Given the description of an element on the screen output the (x, y) to click on. 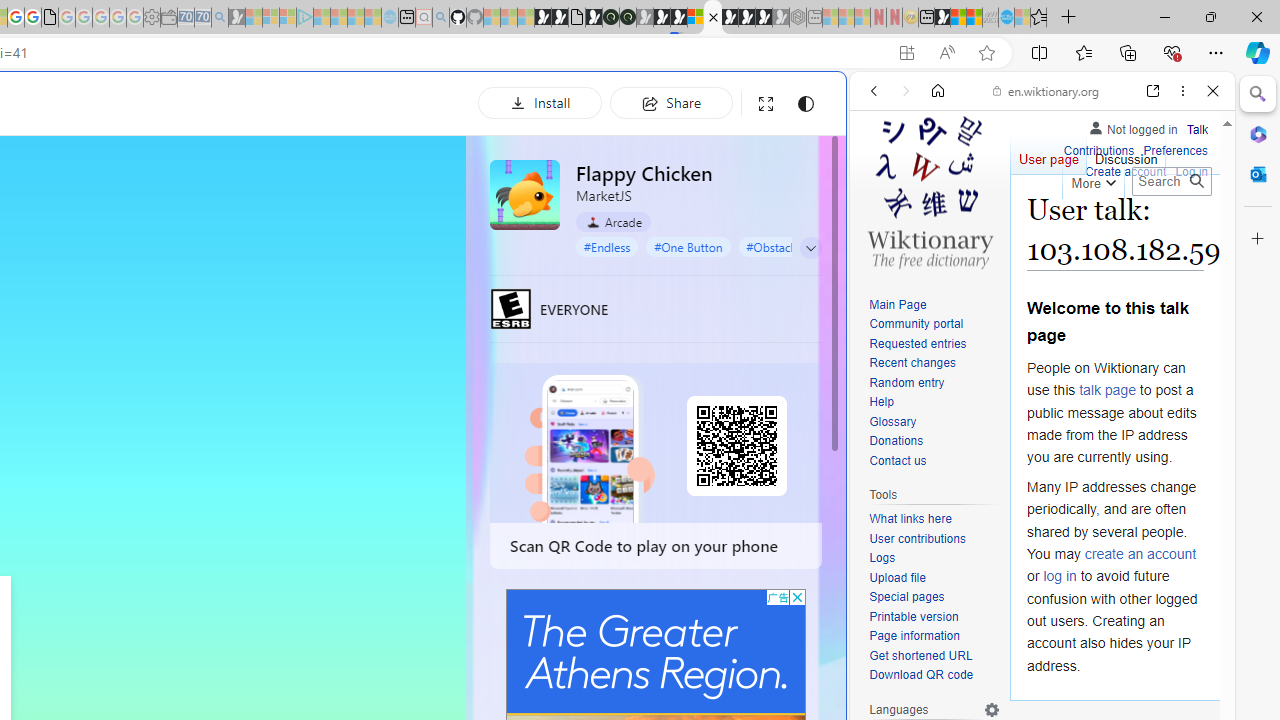
create an account (1140, 553)
Search the web (1051, 137)
Full screen (765, 103)
#Endless (607, 246)
User contributions (917, 538)
Language settings (992, 709)
Download QR code (934, 676)
World - MSN (958, 17)
Discussion (1125, 154)
Class: b_serphb (1190, 229)
Microsoft Start Gaming - Sleeping (236, 17)
Community portal (916, 323)
Play Cave FRVR in your browser | Games from Microsoft Start (343, 426)
